Given the description of an element on the screen output the (x, y) to click on. 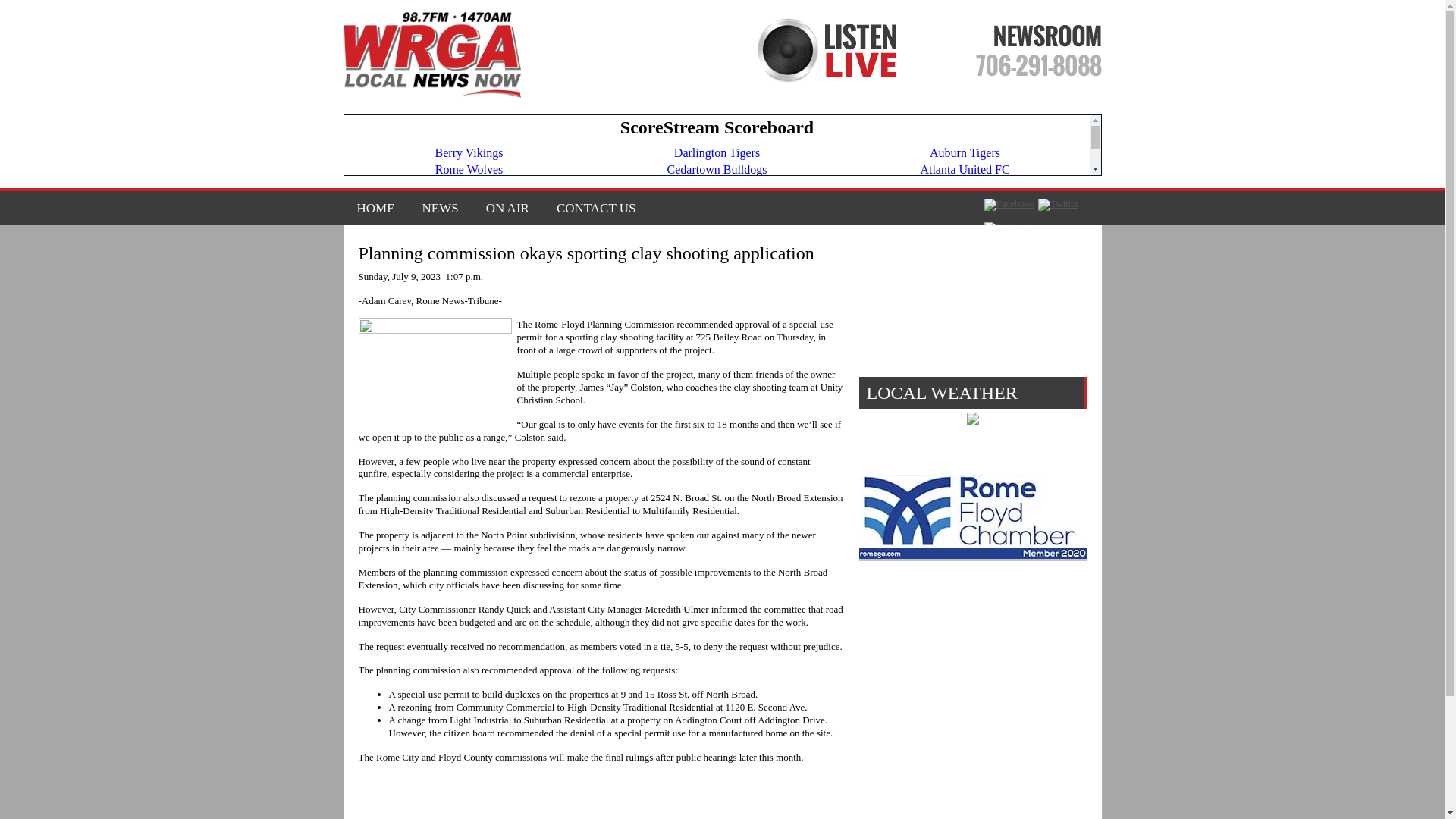
NEWS (440, 207)
Twitter (1058, 204)
Facebook (1009, 204)
ON AIR (507, 207)
HOME (374, 207)
CONTACT US (589, 207)
Podcasts (1007, 227)
